Given the description of an element on the screen output the (x, y) to click on. 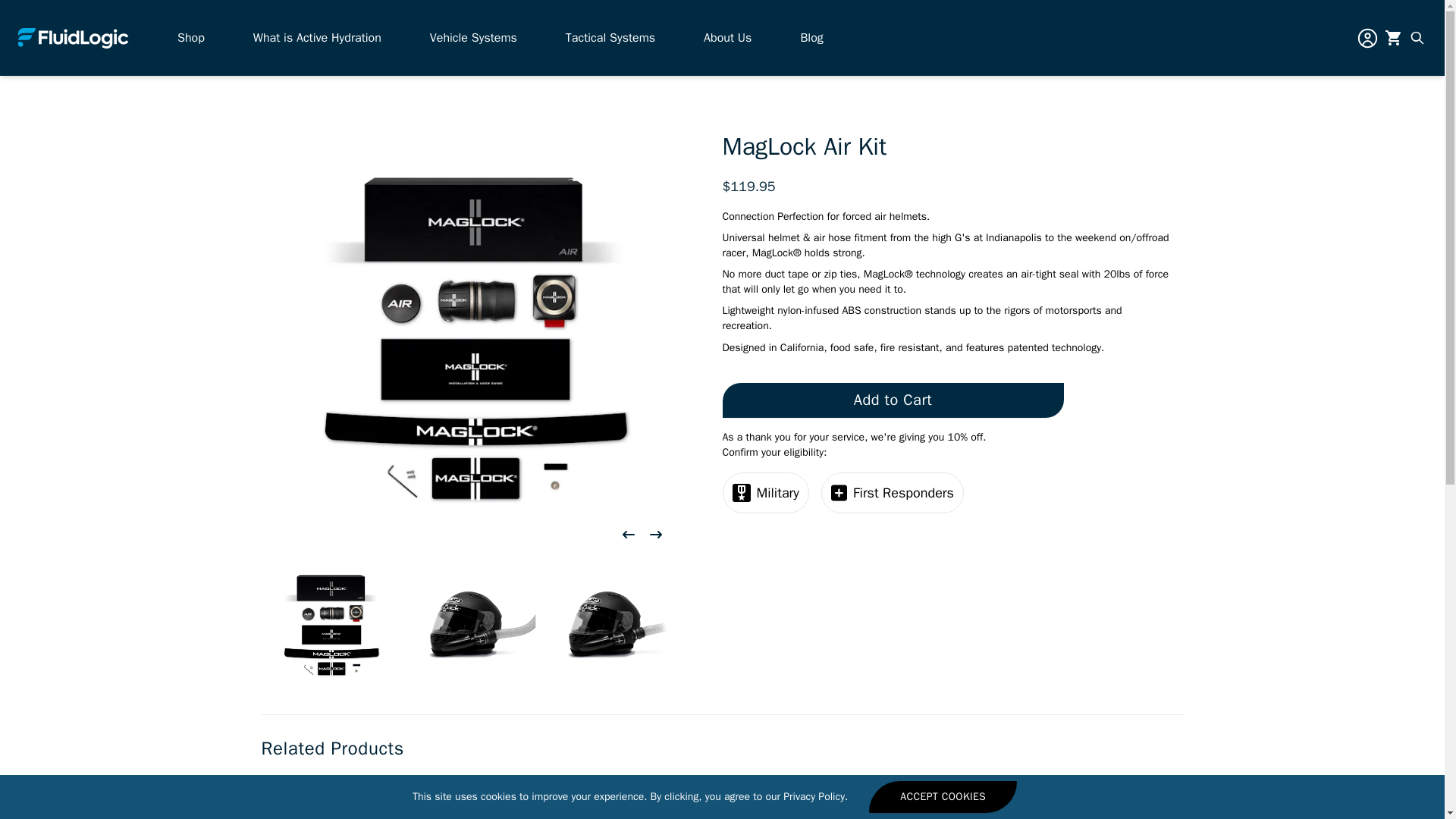
First Responders (892, 492)
FluidLogic (73, 37)
What is Active Hydration (317, 37)
Add to Cart (892, 400)
Vehicle Systems (472, 37)
Shop (191, 37)
ACCEPT COOKIES (942, 797)
About Us (727, 37)
Blog (810, 37)
Military (765, 492)
